Given the description of an element on the screen output the (x, y) to click on. 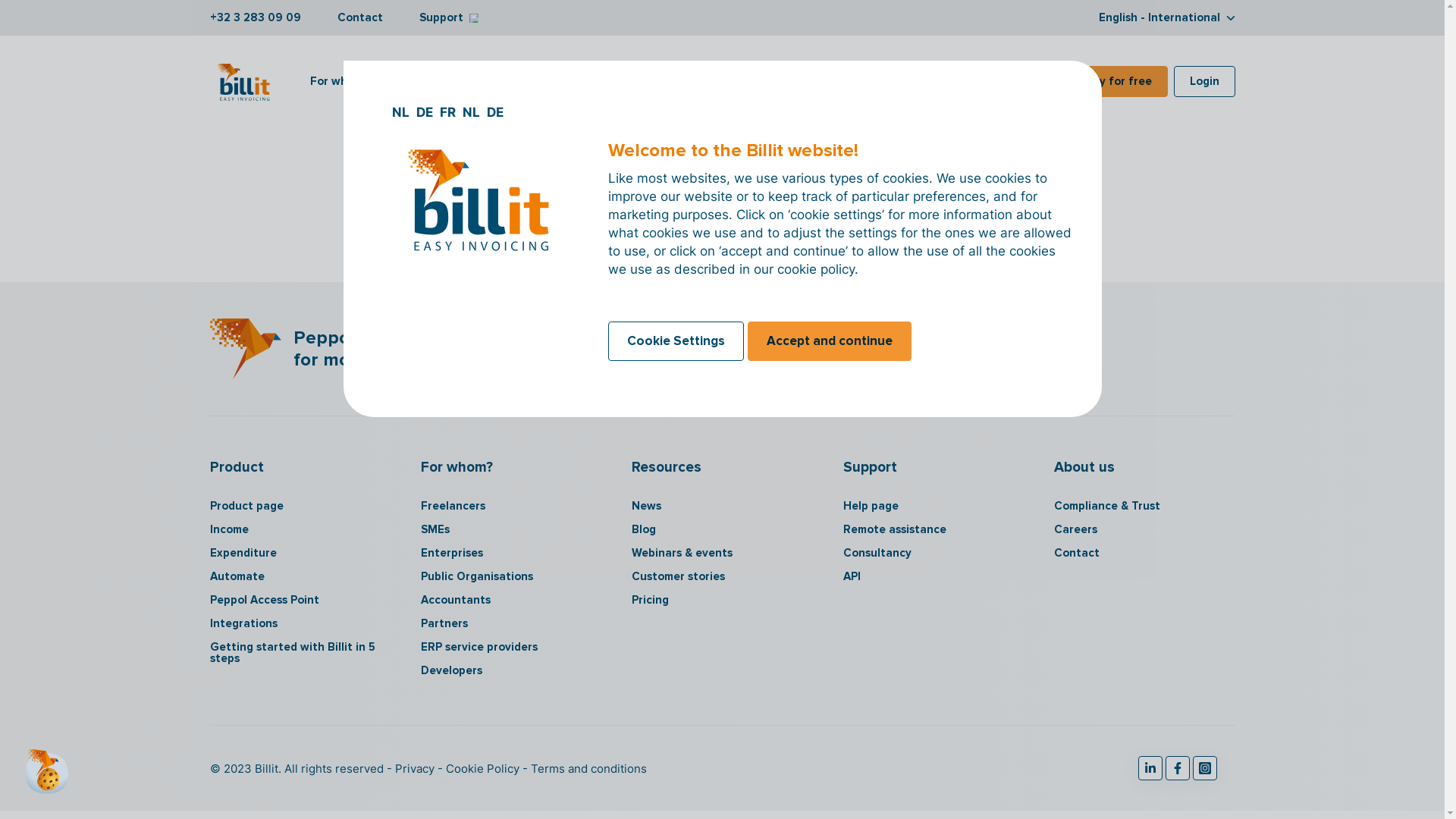
NL Element type: text (401, 111)
Terms and conditions Element type: text (583, 768)
Freelancers Element type: text (510, 505)
DE Element type: text (425, 111)
SMEs Element type: text (510, 529)
Pricing Element type: text (721, 599)
ERP service providers Element type: text (510, 646)
DE Element type: text (494, 111)
text Element type: hover (1204, 768)
Support Element type: text (447, 17)
Blog Element type: text (721, 529)
Enterprises Element type: text (510, 552)
Try for free Element type: text (1119, 80)
arrow down Element type: hover (472, 17)
text Element type: hover (1149, 768)
Careers Element type: text (1144, 529)
Remote assistance Element type: text (933, 529)
Billit Logo Element type: hover (244, 348)
Consultancy Element type: text (933, 552)
Webinars & events Element type: text (721, 552)
Getting started with Billit in 5 steps Element type: text (299, 652)
Compliance & Trust Element type: text (1144, 505)
Integrations Element type: text (547, 81)
FR Element type: text (448, 111)
Automate Element type: text (299, 576)
Cookie Policy Element type: text (478, 768)
cookie policy Element type: text (815, 268)
Pricing Element type: text (709, 81)
Partners Element type: text (510, 623)
NL Element type: text (472, 111)
Login Element type: text (1204, 80)
Contact Element type: text (1144, 552)
Accept and continue Element type: text (829, 340)
Customer stories Element type: text (721, 576)
arrow down Element type: hover (377, 80)
Peppol Element type: text (635, 81)
text Element type: hover (1176, 768)
Cookie Settings Element type: text (675, 340)
Income Element type: text (299, 529)
Product page Element type: text (299, 505)
Help page Element type: text (933, 505)
Public Organisations Element type: text (510, 576)
Product Element type: text (447, 81)
Contact Element type: text (359, 17)
Expenditure Element type: text (299, 552)
Billit Logo Element type: hover (244, 85)
arrow down Element type: hover (472, 80)
Integrations Element type: text (299, 623)
Peppol Access Point Element type: text (299, 599)
API Element type: text (933, 576)
News Element type: text (721, 505)
For whom? Element type: text (345, 81)
Privacy Element type: text (411, 768)
Resources Element type: text (799, 81)
Accountants Element type: text (510, 599)
Developers Element type: text (510, 670)
arrow down Element type: hover (830, 80)
arrow down Element type: hover (1229, 17)
+32 3 283 09 09 Element type: text (254, 17)
English - International Element type: text (1166, 17)
